Given the description of an element on the screen output the (x, y) to click on. 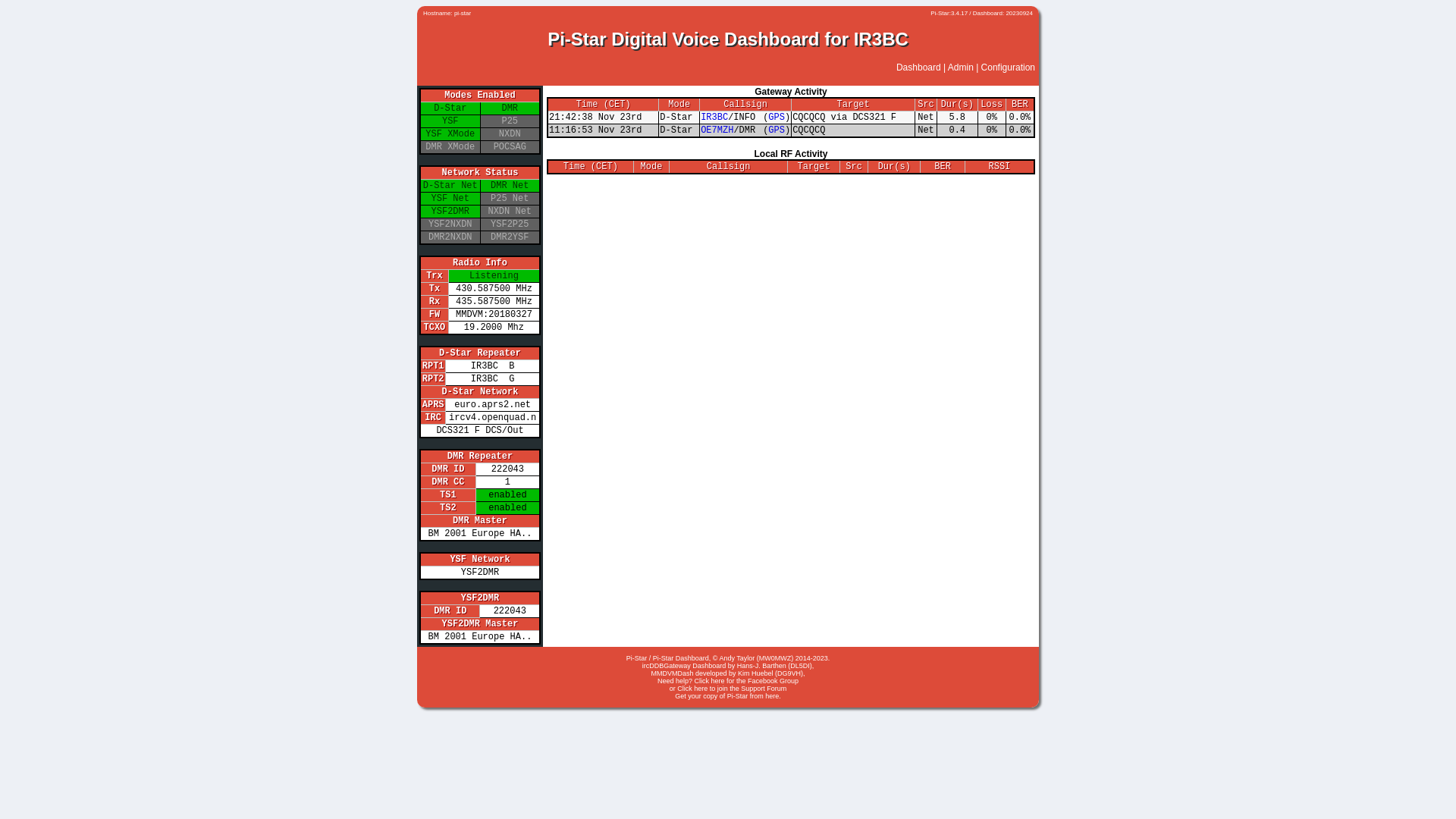
Time (CET) Element type: text (603, 104)
Dur(s) Element type: text (957, 104)
here to join the Support Forum Element type: text (739, 688)
Target Element type: text (853, 104)
Loss Element type: text (991, 104)
GPS Element type: text (776, 130)
GPS Element type: text (776, 117)
OE7MZH Element type: text (716, 130)
Admin Element type: text (960, 67)
Callsign Element type: text (728, 166)
BER Element type: text (1019, 104)
Mode Element type: text (679, 104)
here for the Facebook Group Element type: text (754, 680)
Configuration Element type: text (1008, 67)
Src Element type: text (925, 104)
Time (CET) Element type: text (590, 166)
Dashboard Element type: text (918, 67)
here Element type: text (771, 695)
IR3BC Element type: text (714, 117)
Callsign Element type: text (745, 104)
Mode Element type: text (651, 166)
